Given the description of an element on the screen output the (x, y) to click on. 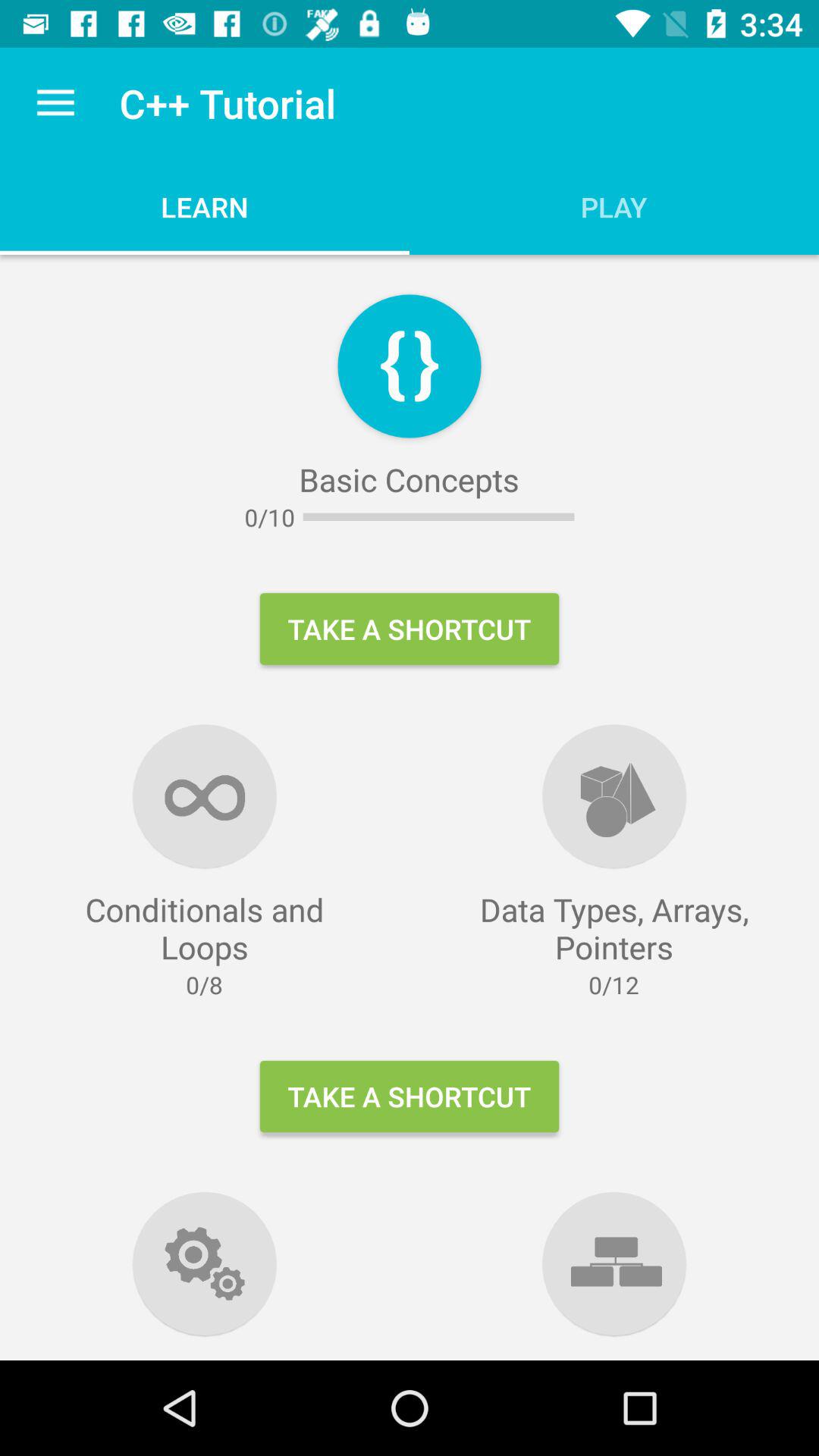
select the item above conditionals and loops icon (55, 103)
